Given the description of an element on the screen output the (x, y) to click on. 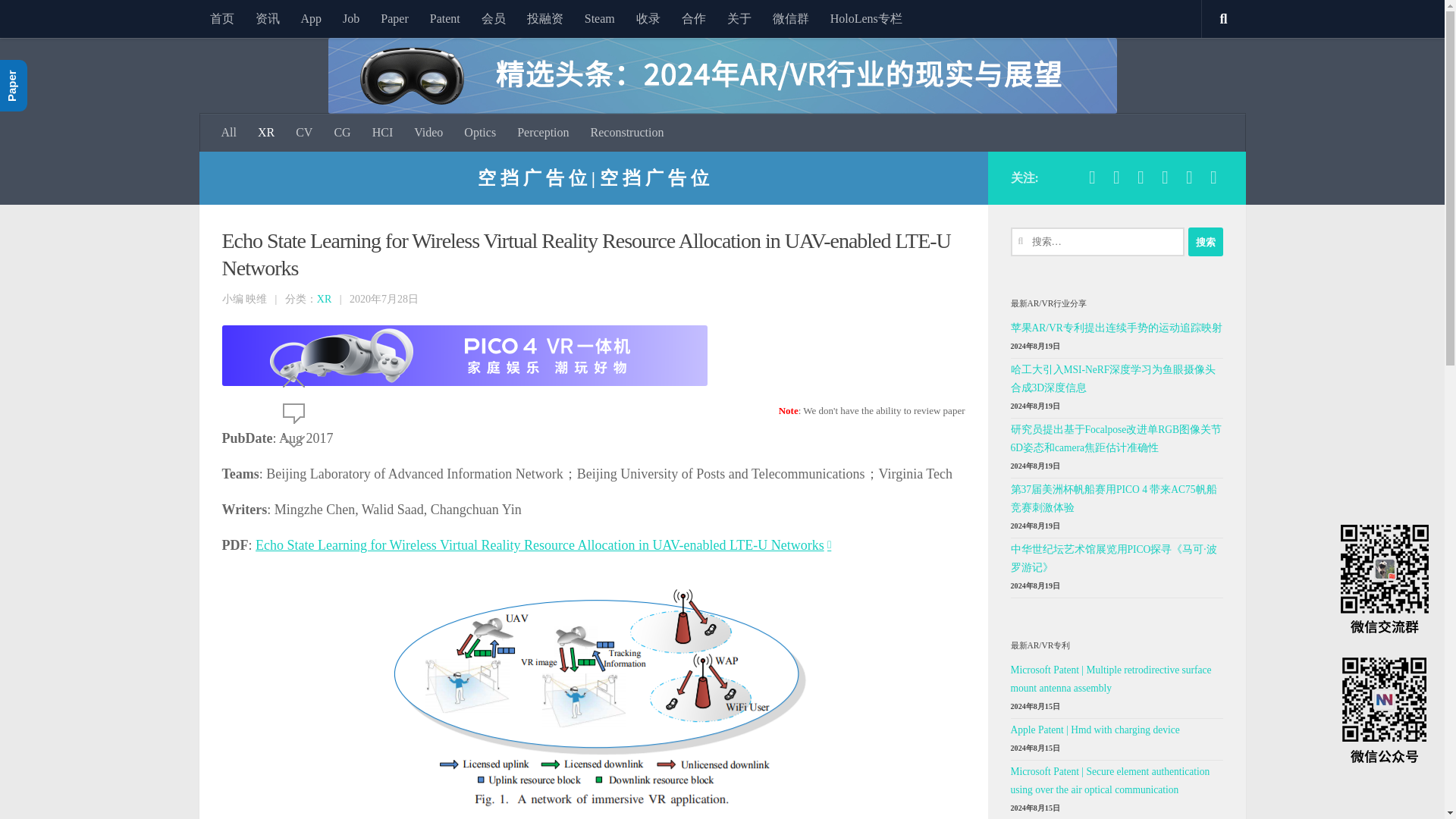
Paper (394, 18)
App (310, 18)
Job (350, 18)
Perception (542, 132)
Reconstruction (627, 132)
XR (266, 132)
Patent (444, 18)
Steam (599, 18)
CG (342, 132)
HCI (382, 132)
